Given the description of an element on the screen output the (x, y) to click on. 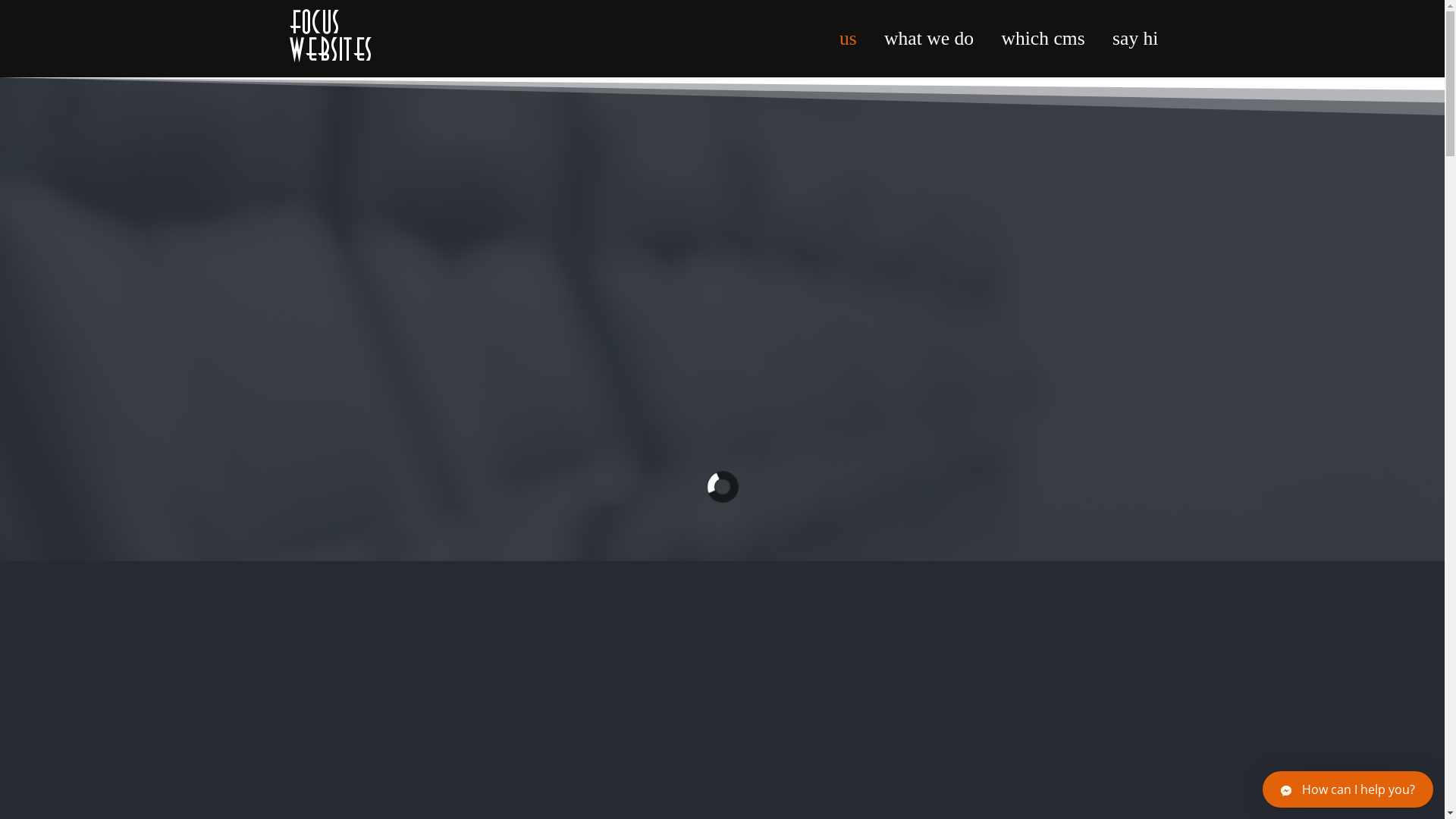
graham@focuswebsites.com.au Element type: text (832, 670)
say hi Element type: text (1128, 38)
Say Hi Element type: text (317, 617)
us Element type: text (847, 38)
